Given the description of an element on the screen output the (x, y) to click on. 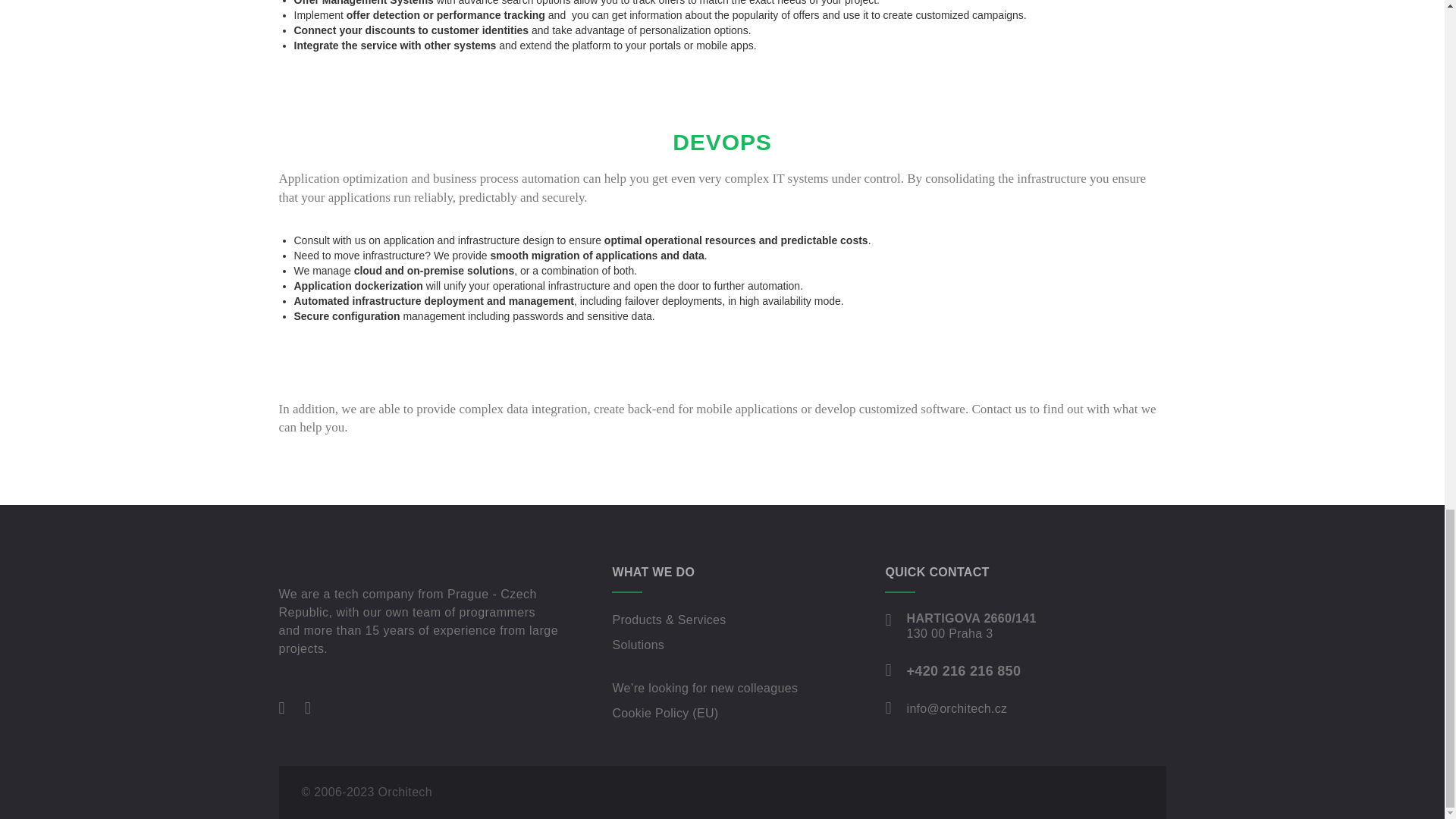
Solutions (637, 644)
